Given the description of an element on the screen output the (x, y) to click on. 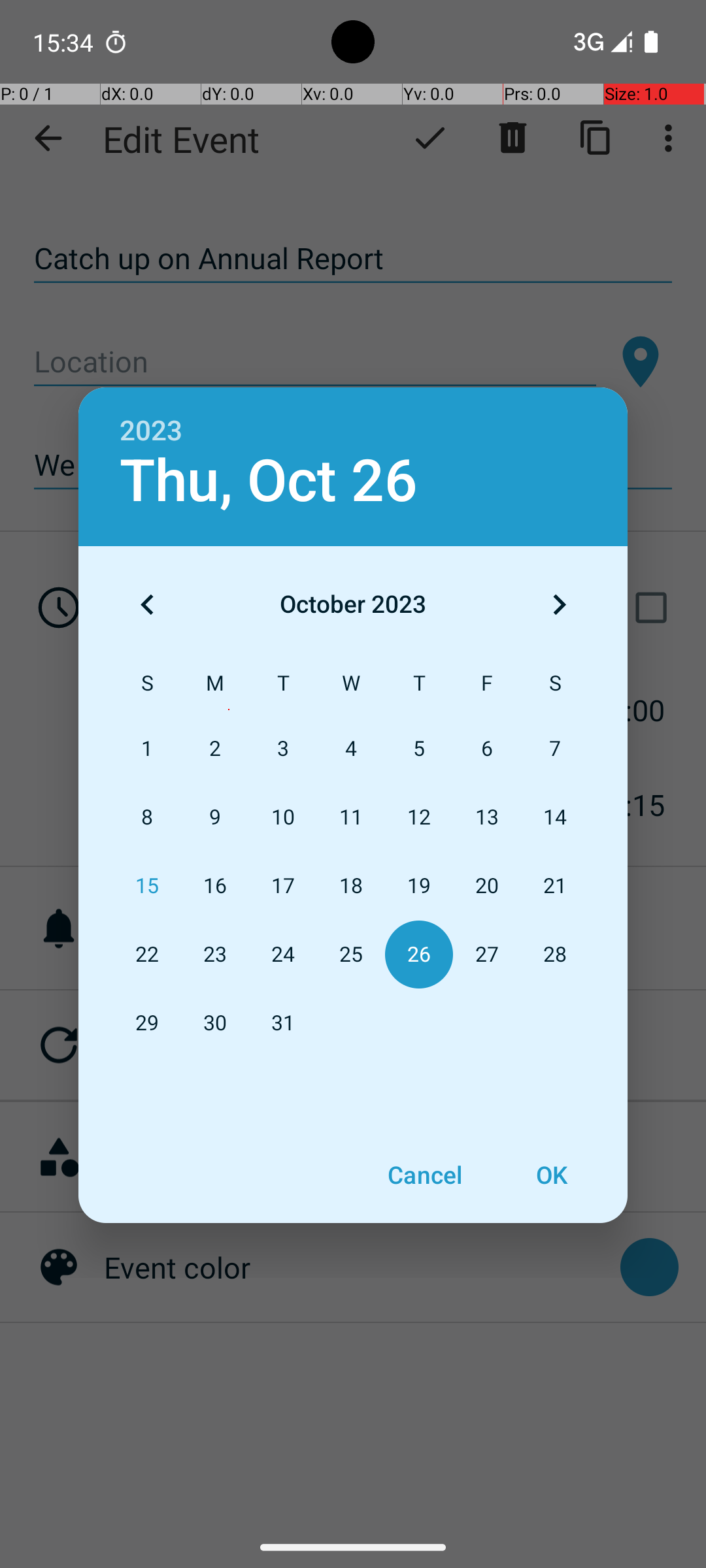
Thu, Oct 26 Element type: android.widget.TextView (268, 480)
